Given the description of an element on the screen output the (x, y) to click on. 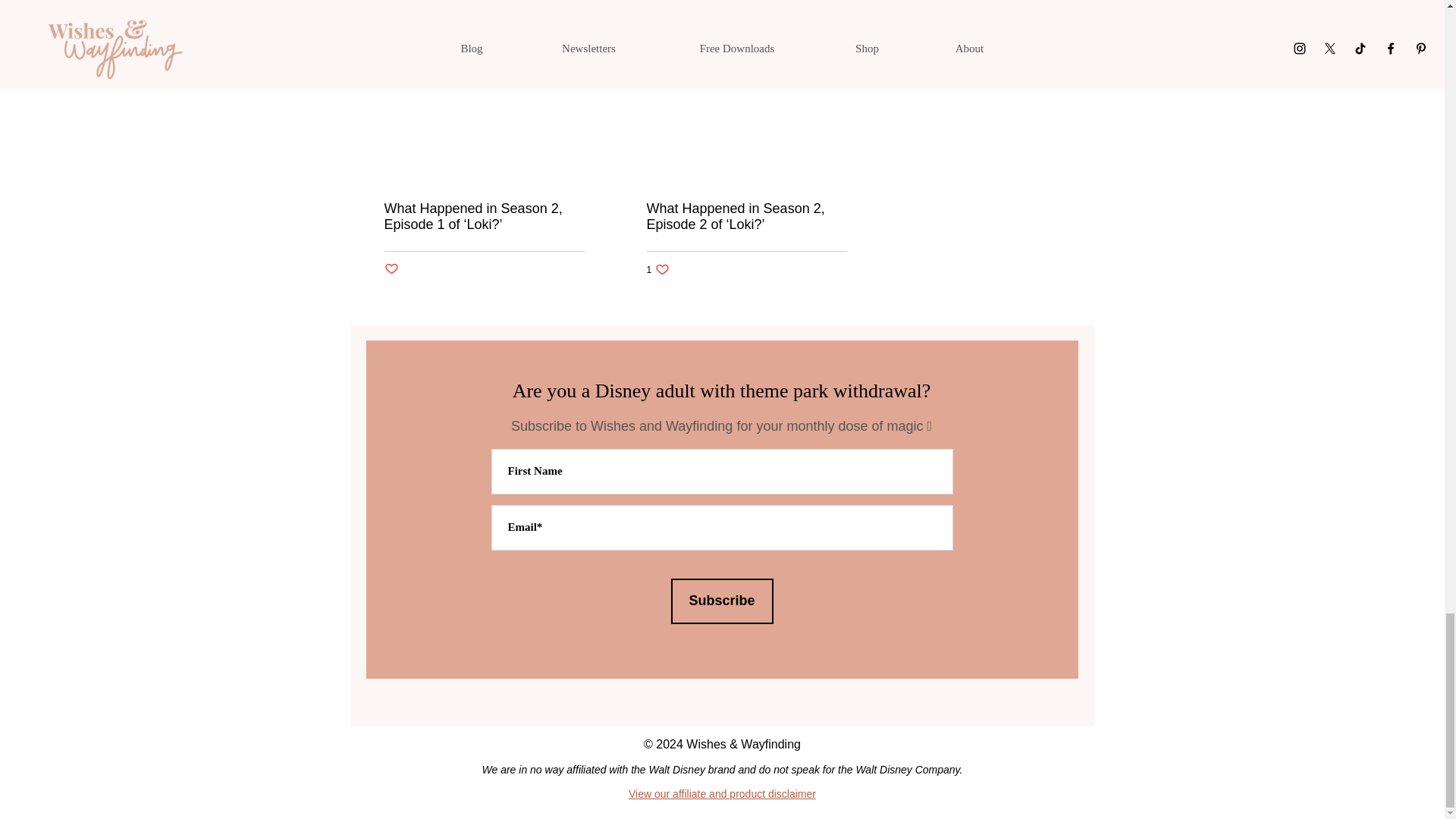
See All (847, 23)
Post not marked as liked (390, 269)
